Given the description of an element on the screen output the (x, y) to click on. 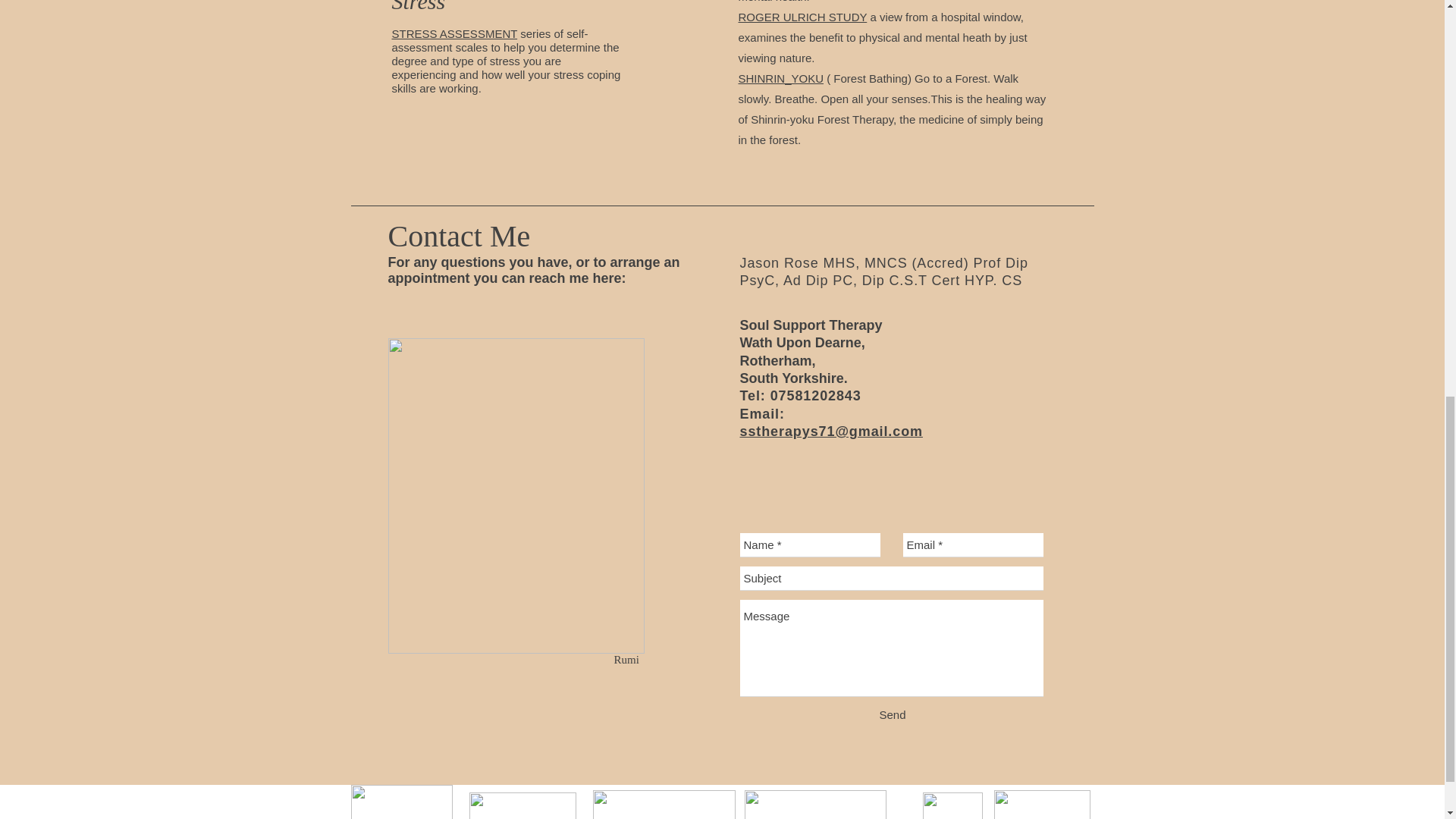
Send (892, 714)
STRESS ASSESSMENT (453, 33)
ROGER ULRICH STUDY (802, 16)
